Given the description of an element on the screen output the (x, y) to click on. 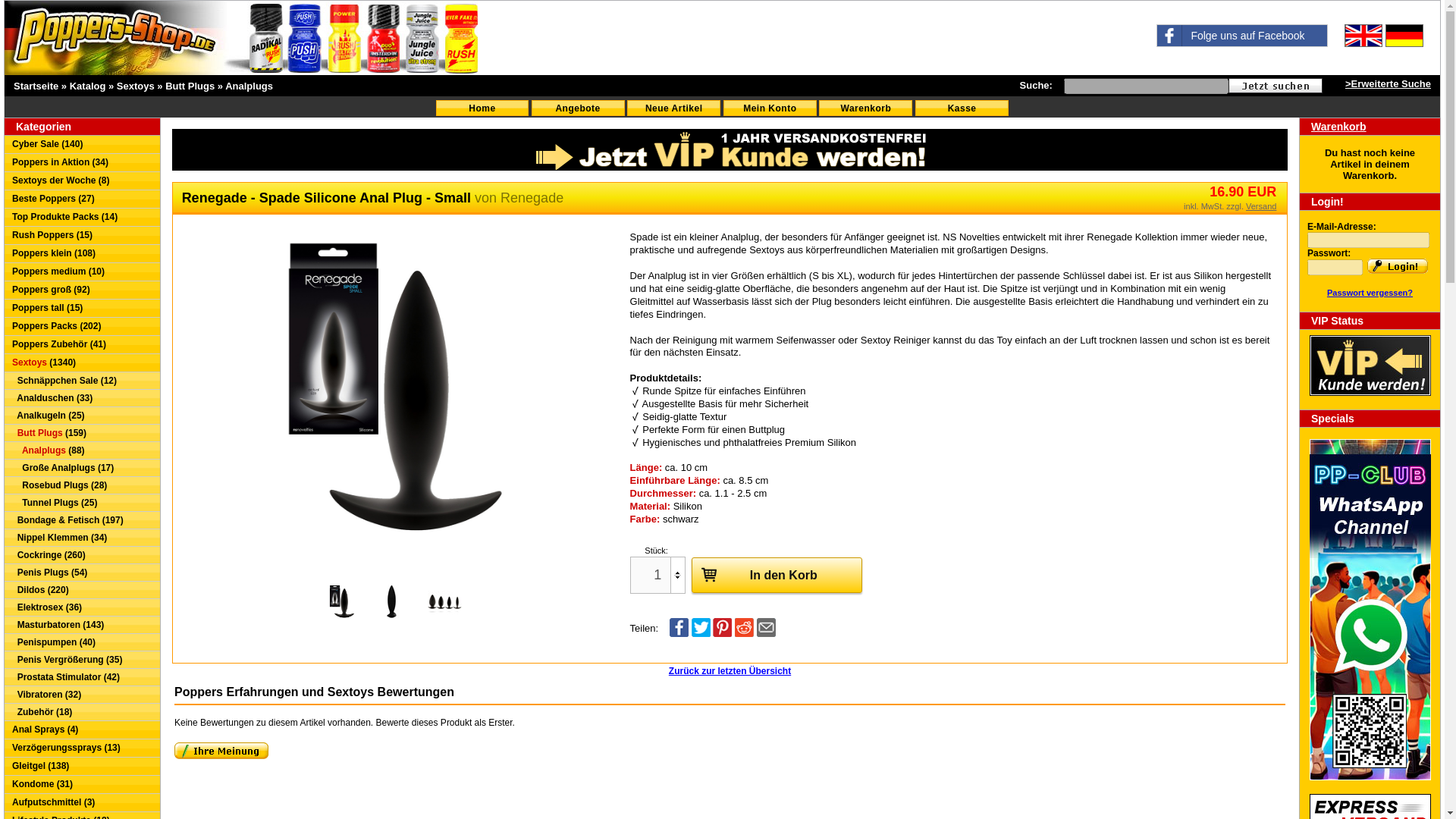
Submit to Reddit (744, 633)
Tweet (700, 633)
Warenkorb (865, 107)
1 (657, 574)
Sextoys (135, 85)
Katalog (87, 85)
Home (481, 107)
Butt Plugs (189, 85)
Share on Facebook (678, 633)
Send email (766, 633)
 Suchen!  (1275, 84)
Neue Artikel (673, 107)
 Deutsch  (1404, 35)
 Anmelden  (1397, 264)
Mein Konto (769, 107)
